Given the description of an element on the screen output the (x, y) to click on. 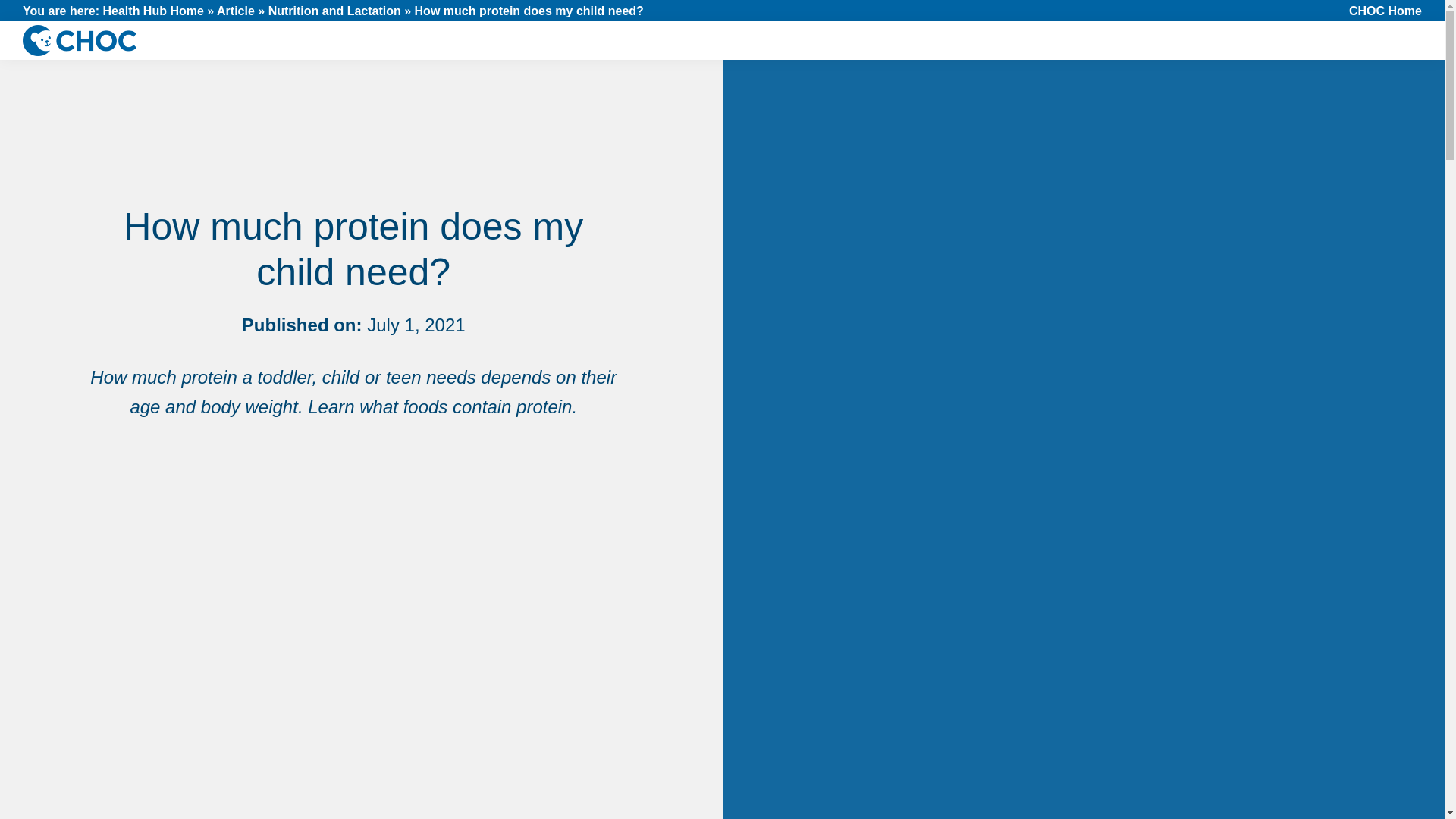
CHOC Home (1385, 10)
Nutrition and Lactation (334, 10)
Article (235, 10)
Health Hub Home (153, 10)
